Given the description of an element on the screen output the (x, y) to click on. 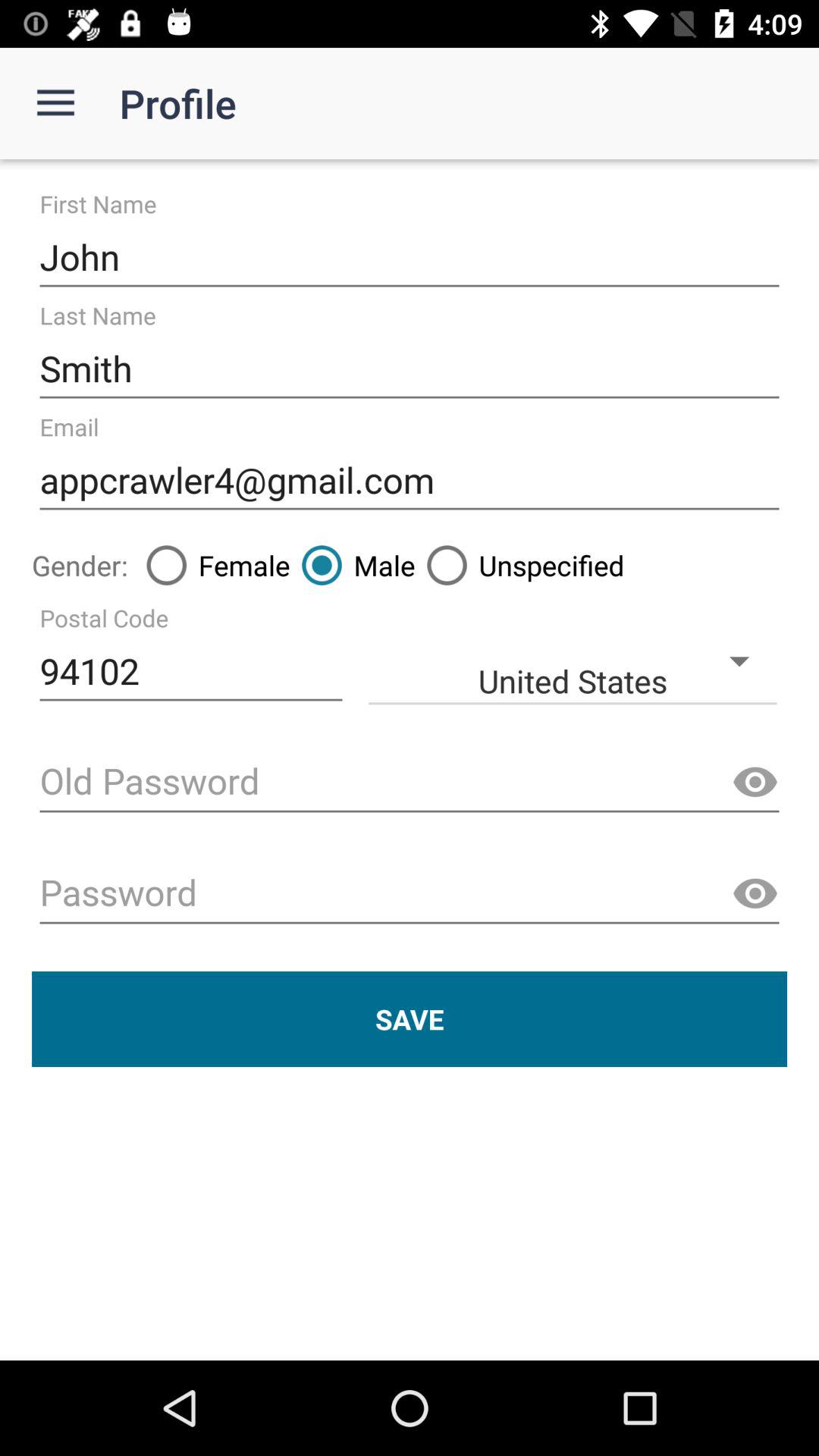
select icon to the right of gender:  item (212, 565)
